Given the description of an element on the screen output the (x, y) to click on. 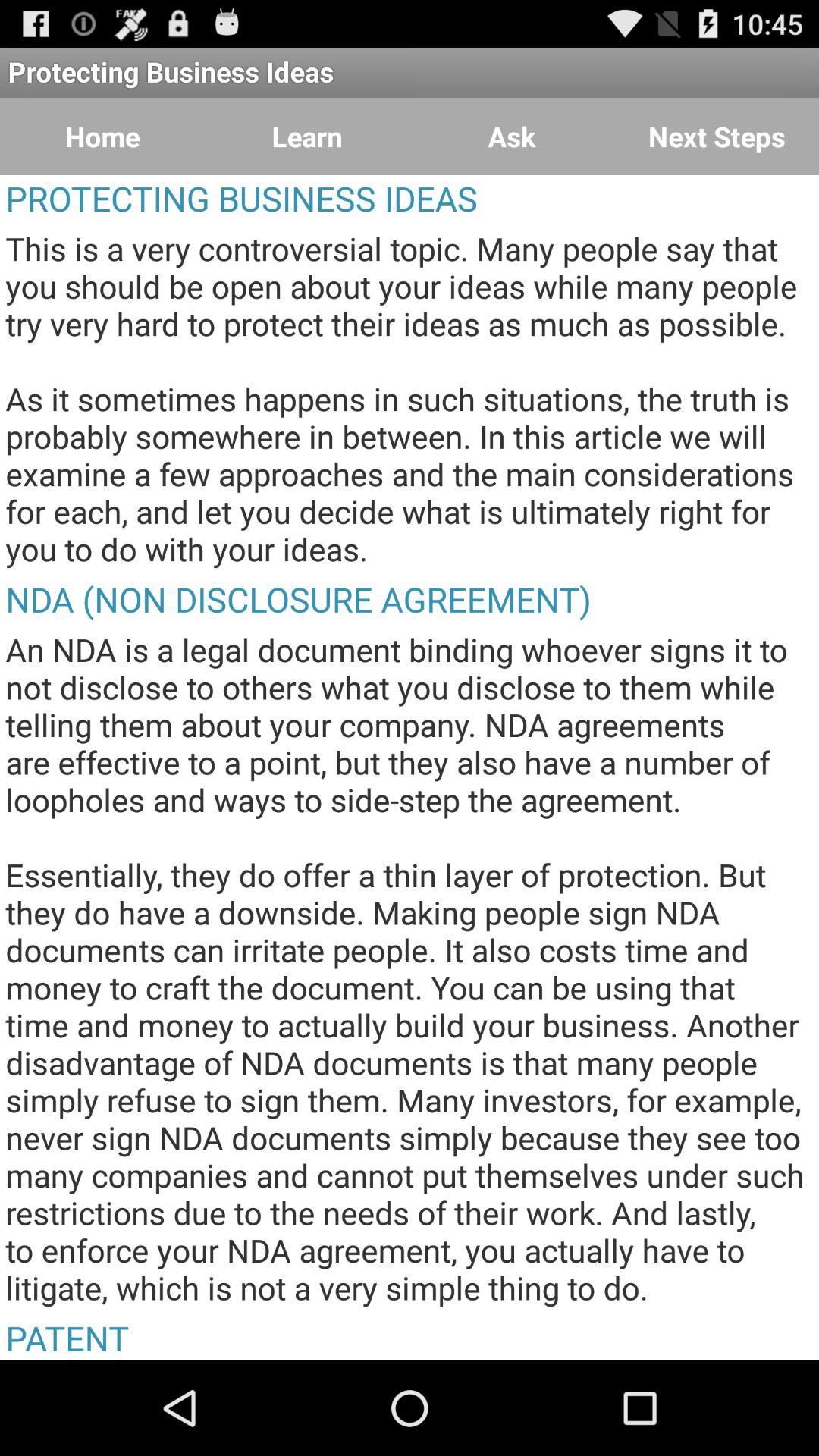
launch the icon to the left of learn (102, 136)
